Given the description of an element on the screen output the (x, y) to click on. 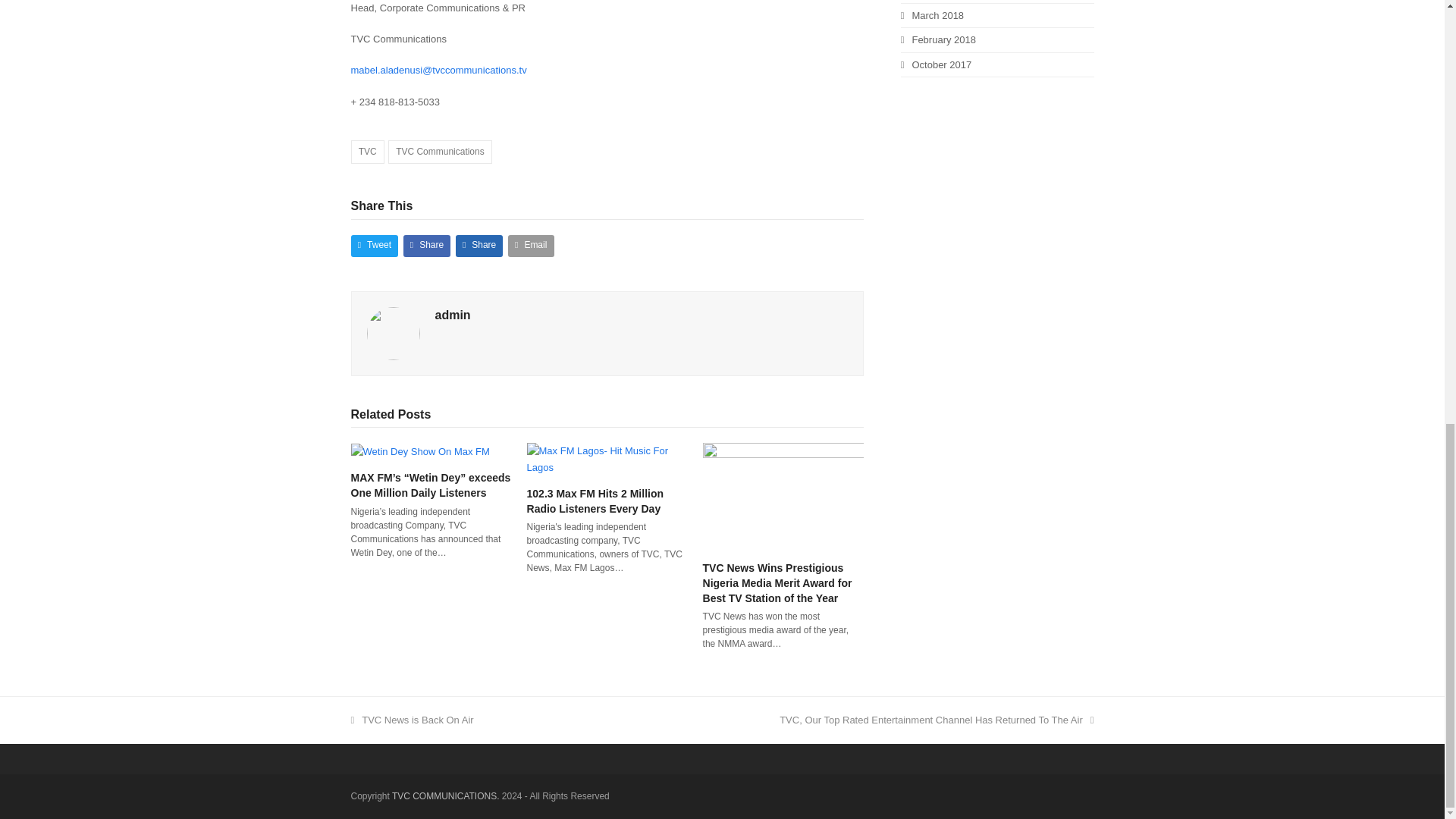
Share (427, 246)
TVC Communications (440, 151)
102.3 Max FM Hits 2 Million Radio Listeners Every Day (607, 458)
Share (479, 246)
Visit Author Page (452, 314)
Email (531, 246)
Tweet (373, 246)
Visit Author Page (393, 332)
